Given the description of an element on the screen output the (x, y) to click on. 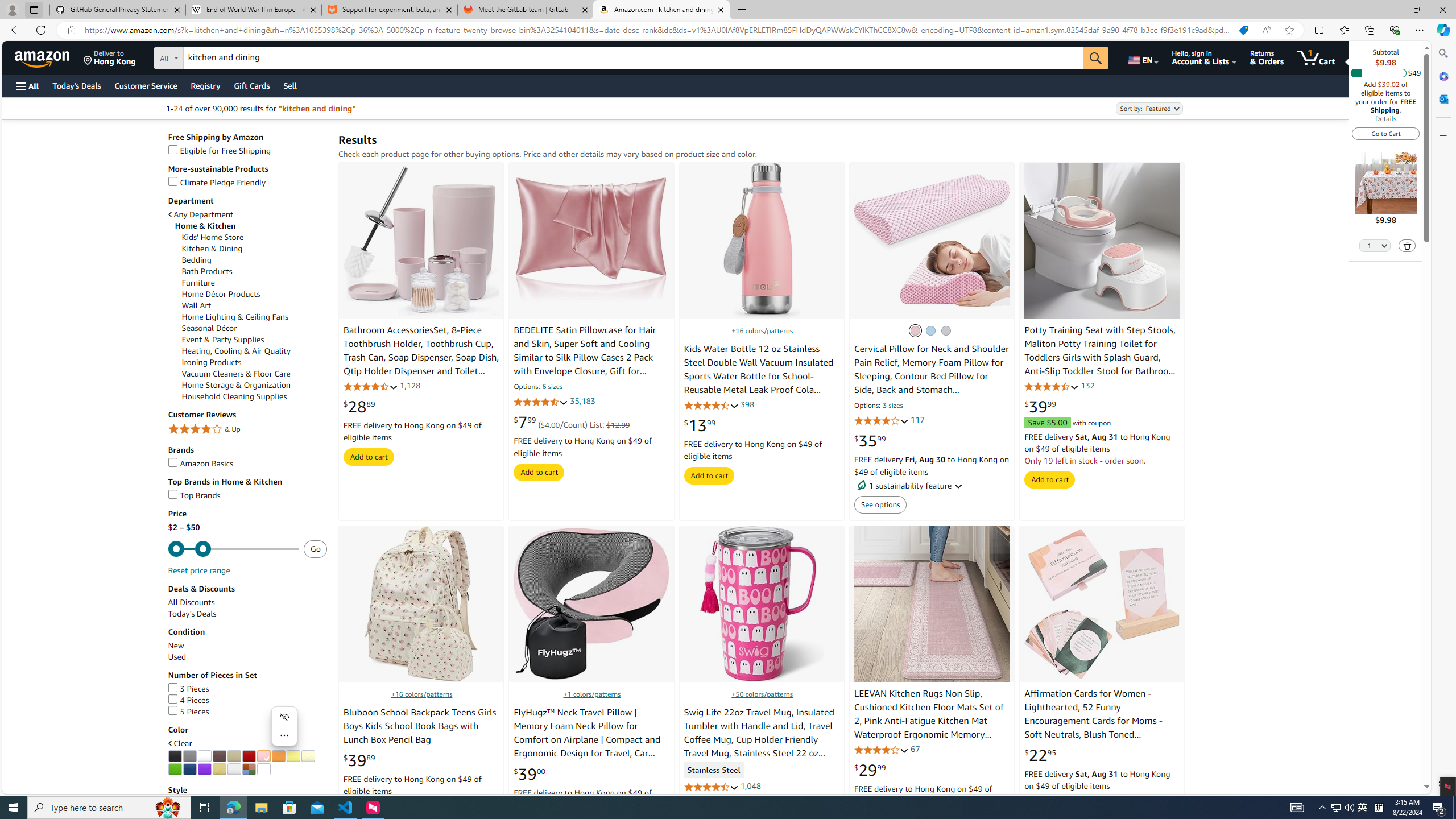
AutomationID: p_n_feature_twenty_browse-bin/3254100011 (204, 756)
Amazon Basics (200, 463)
Mini menu on text selection (284, 725)
Used (176, 656)
AutomationID: p_n_feature_twenty_browse-bin/3254105011 (277, 756)
6 sizes (552, 387)
Any Department (200, 214)
132 (1087, 384)
Home Storage & Organization (236, 385)
Any Department (247, 214)
